Given the description of an element on the screen output the (x, y) to click on. 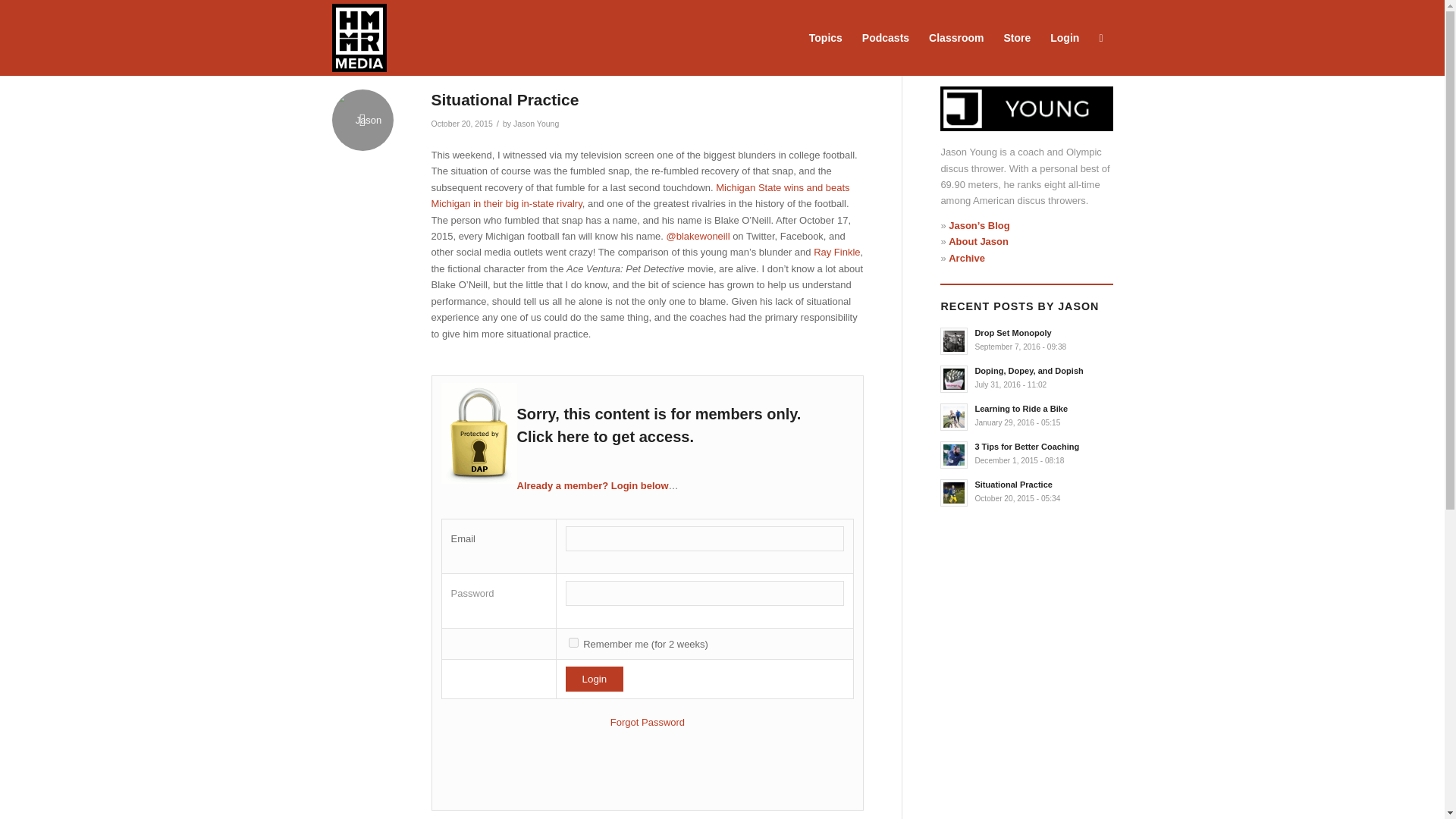
Read: Drop Set Monopoly (954, 340)
Posts by Jason Young (536, 122)
rememberMe (573, 642)
Read: 3 Tips for Better Coaching (1026, 446)
Read: Doping, Dopey, and Dopish (1028, 370)
Read: Drop Set Monopoly (1012, 332)
Read: Learning to Ride a Bike (1020, 408)
Login (595, 678)
Login (595, 678)
Read: Doping, Dopey, and Dopish (954, 379)
